Given the description of an element on the screen output the (x, y) to click on. 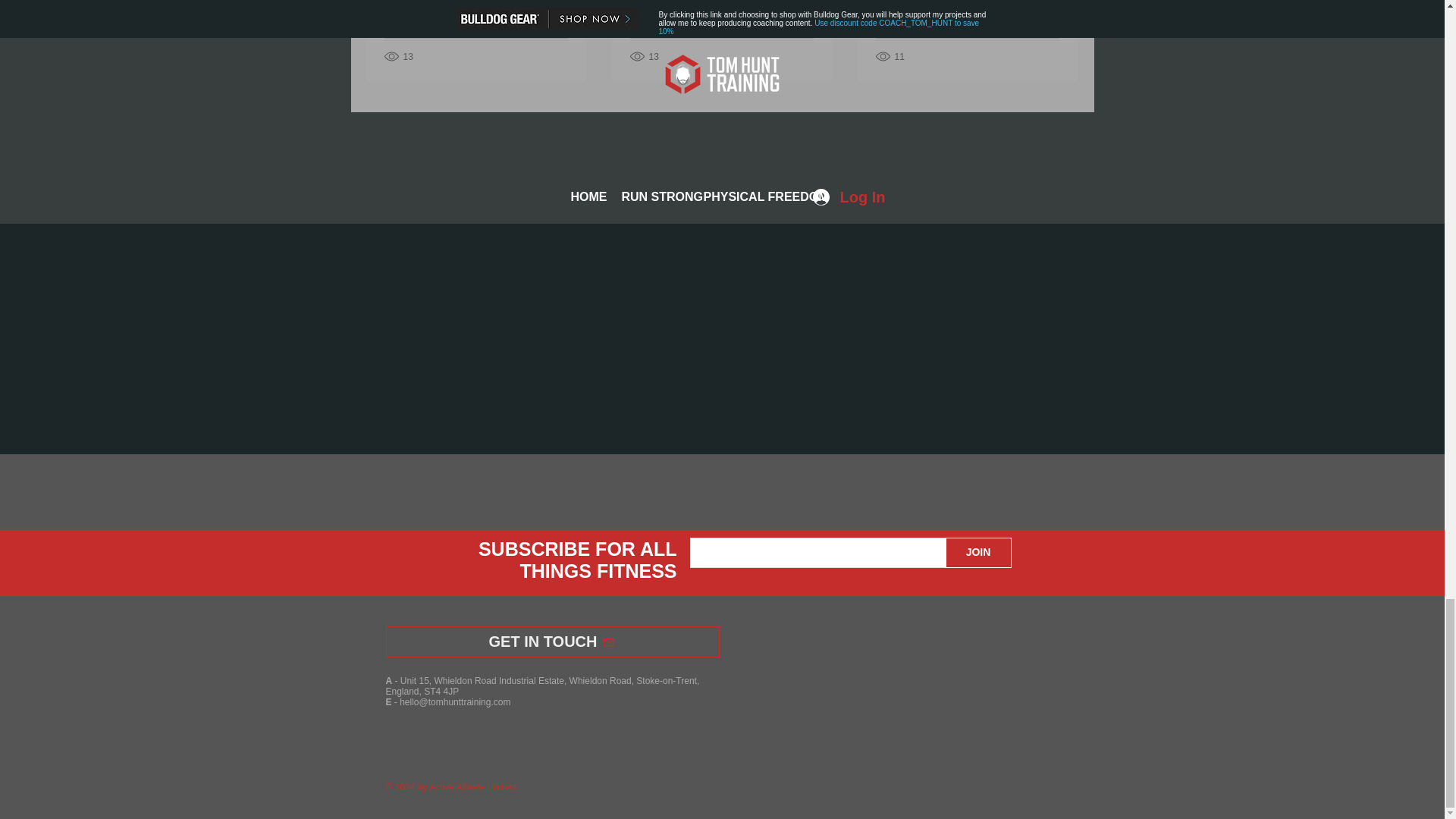
The Benefits of Forecasting and Planning Your Training (720, 9)
JOIN (977, 552)
The Importance of Recovery in a Training Programme (475, 9)
GET IN TOUCH (552, 641)
